Given the description of an element on the screen output the (x, y) to click on. 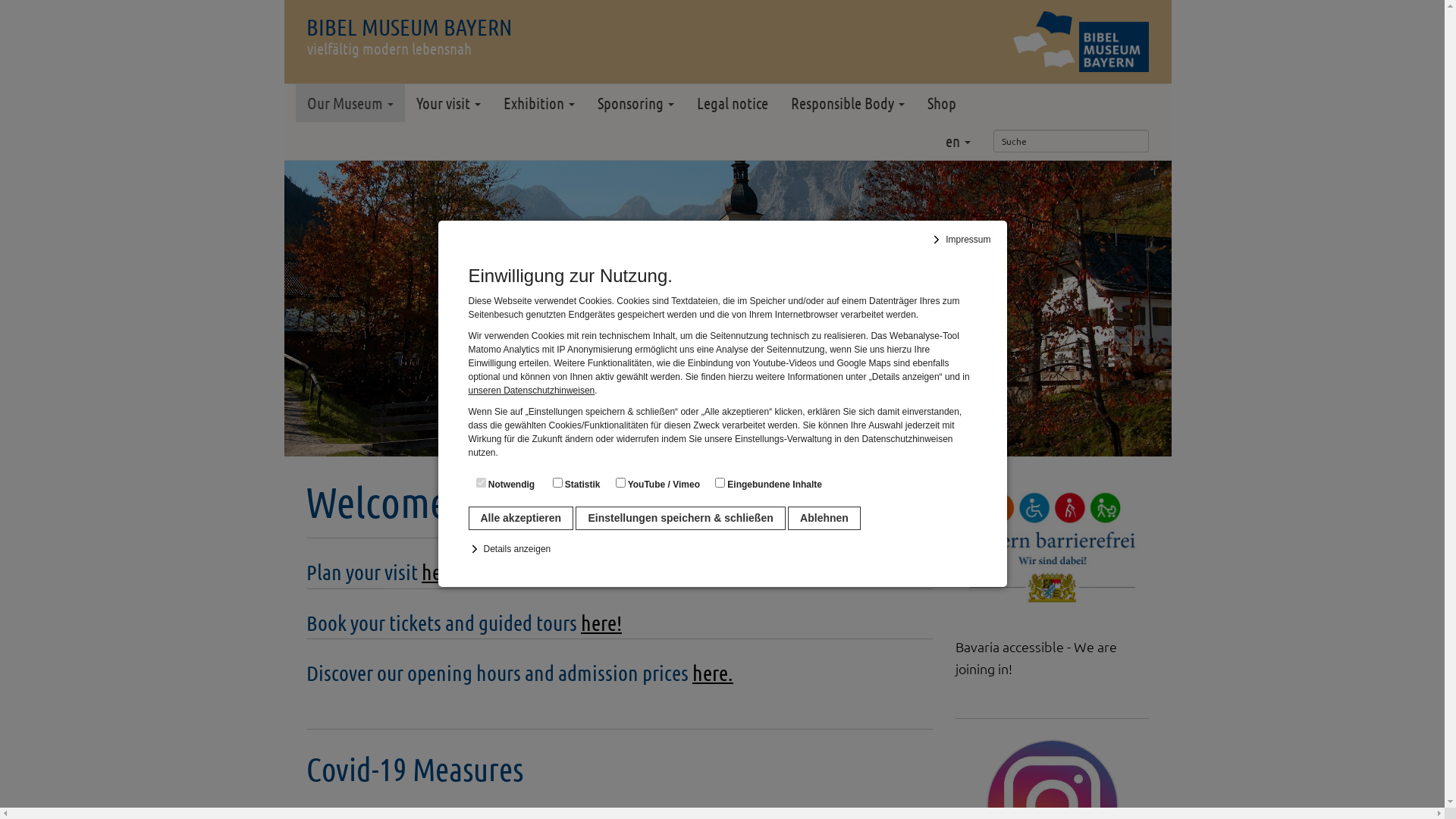
Shop Element type: text (941, 103)
Details anzeigen Element type: text (511, 548)
Ablehnen Element type: text (823, 518)
Your visit Element type: text (448, 103)
Impressum Element type: text (962, 239)
unseren Datenschutzhinweisen Element type: text (531, 390)
here! Element type: text (600, 622)
Alle akzeptieren Element type: text (521, 518)
Exhibition Element type: text (539, 103)
Our Museum Element type: text (349, 103)
Sponsoring Element type: text (635, 103)
en Element type: text (958, 141)
here! Element type: text (441, 571)
Responsible Body Element type: text (847, 103)
Legal notice Element type: text (732, 103)
here. Element type: text (712, 672)
